Given the description of an element on the screen output the (x, y) to click on. 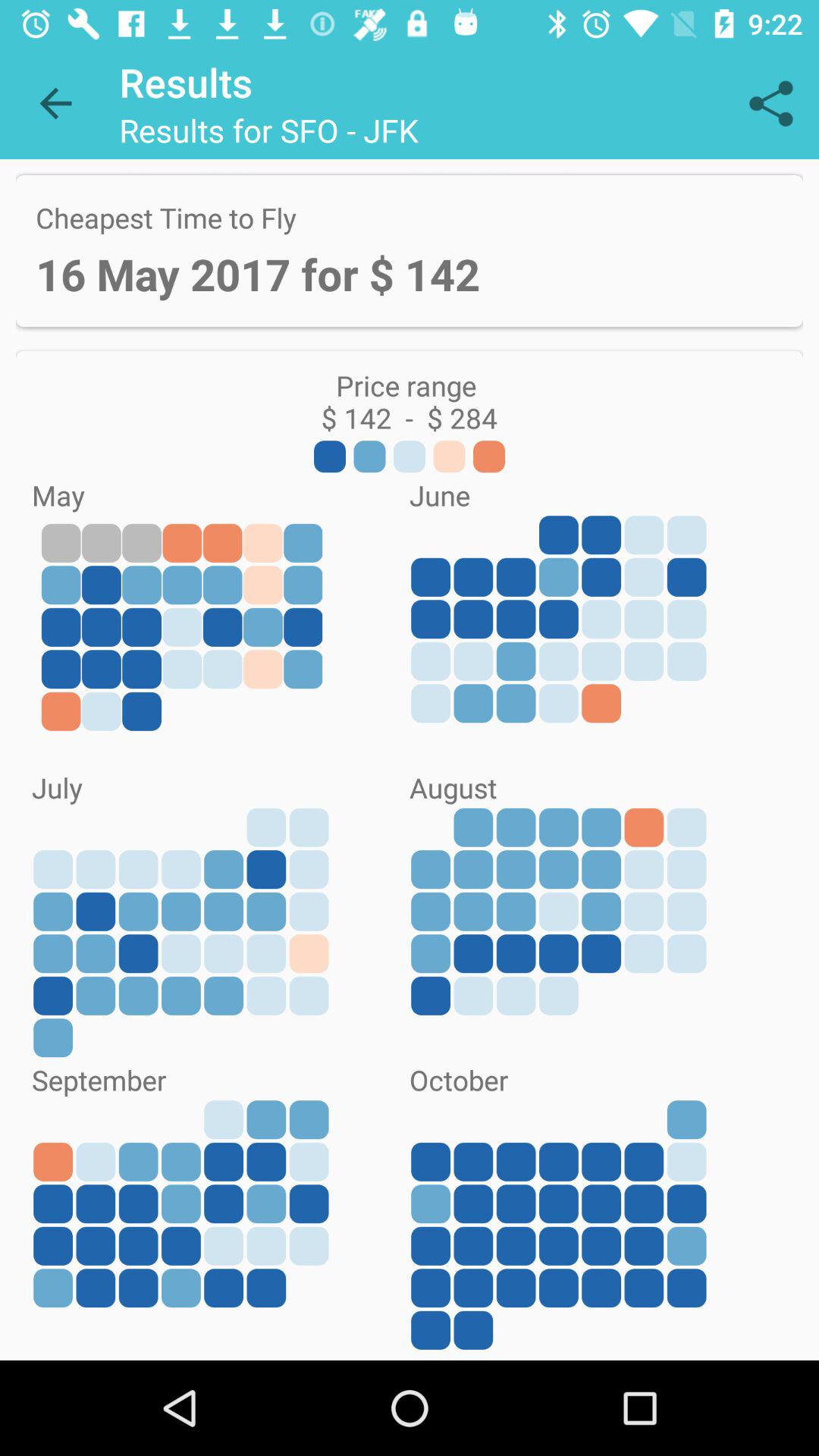
click icon to the right of the results for sfo icon (771, 103)
